Given the description of an element on the screen output the (x, y) to click on. 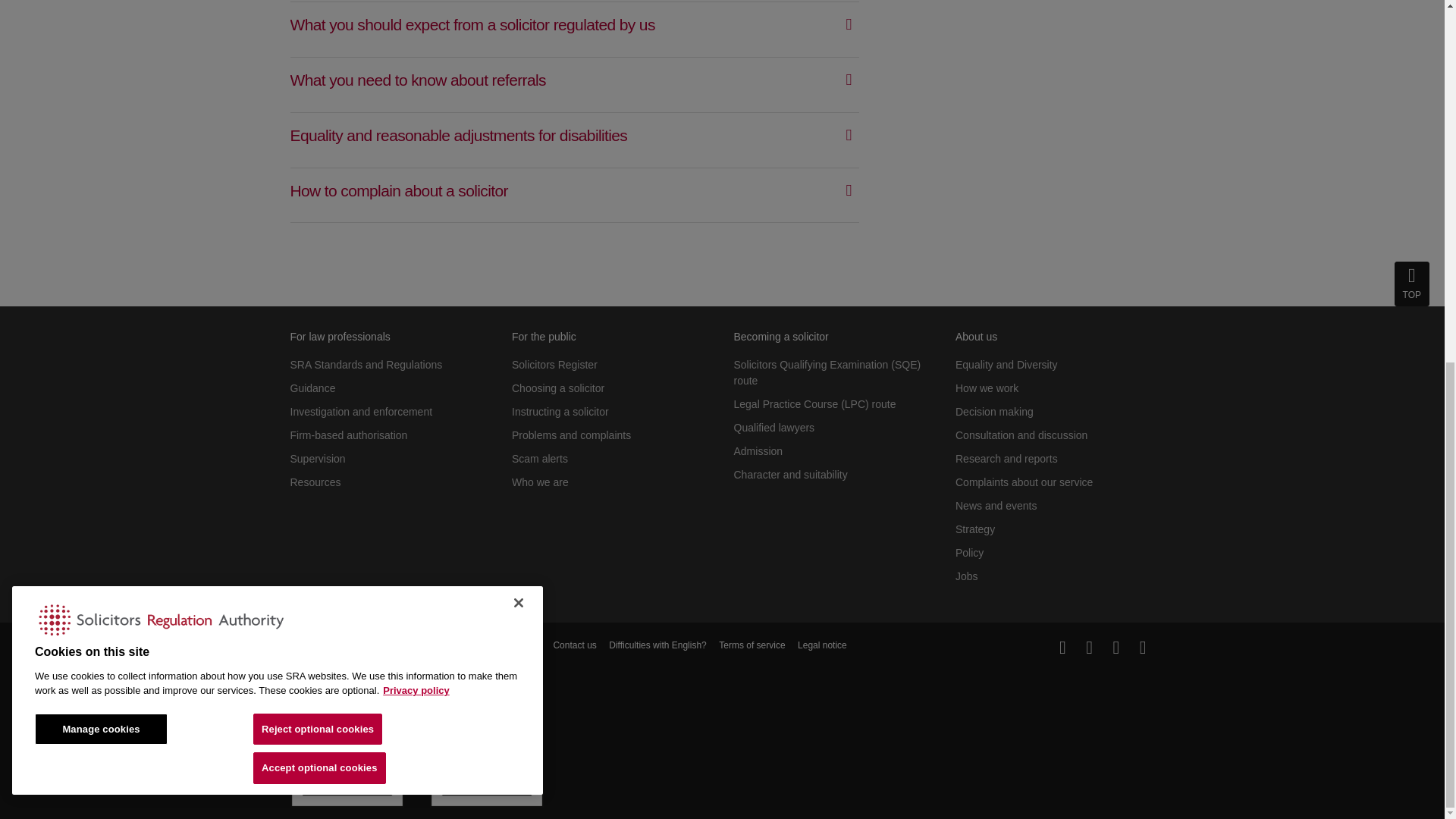
Solicitors Register (554, 365)
